Given the description of an element on the screen output the (x, y) to click on. 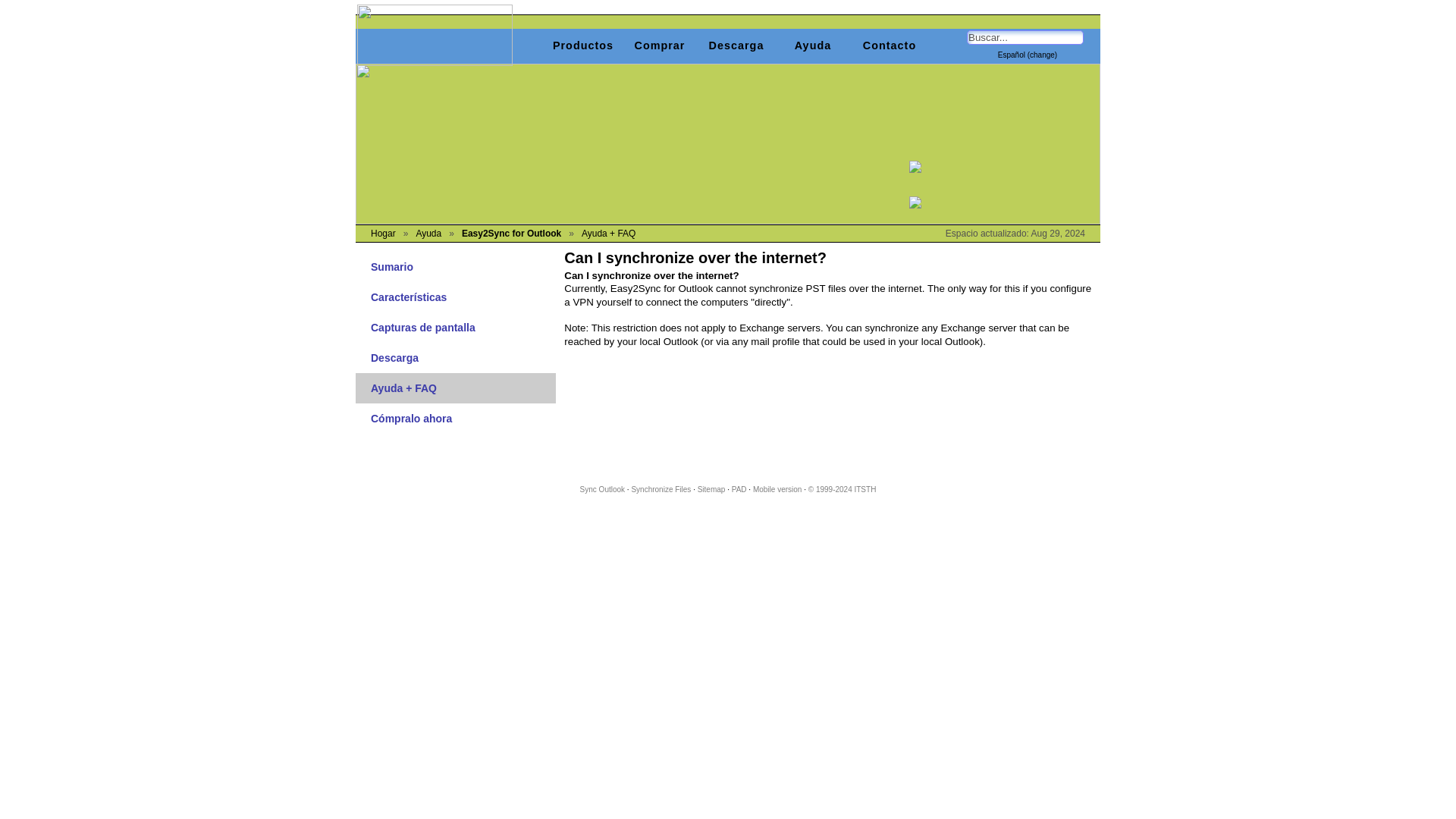
Sumario (463, 266)
Productos (582, 45)
Descarga (463, 358)
Comprar (659, 45)
Buscar... (1024, 37)
Mobile version (777, 489)
Synchronize Files (660, 489)
Sync Outlook (601, 489)
Capturas de pantalla (463, 327)
Ayuda (812, 45)
